Given the description of an element on the screen output the (x, y) to click on. 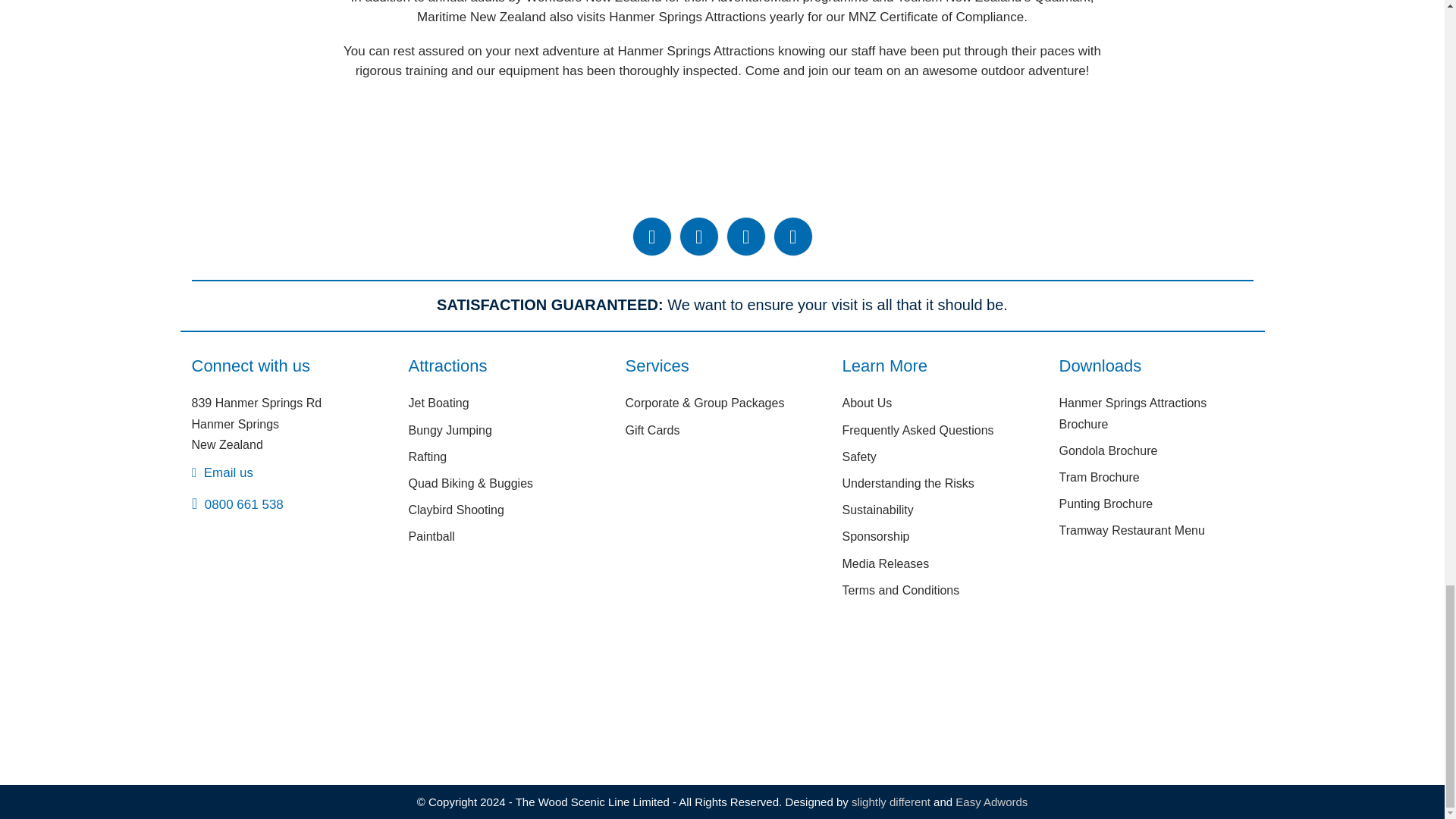
Email us (220, 472)
Facebook (651, 236)
Tripadvisor (745, 236)
Rafting (426, 456)
Paintball (430, 535)
Bungy Jumping (449, 430)
Jet Boating (437, 402)
Claybird Shooting (455, 509)
YouTube (792, 236)
Facebook (651, 236)
HSA-Award-Achievements-With-Sustainability-5 (721, 696)
YouTube (792, 236)
Tripadvisor (745, 236)
0800 661 538 (236, 504)
Instagram (699, 236)
